Given the description of an element on the screen output the (x, y) to click on. 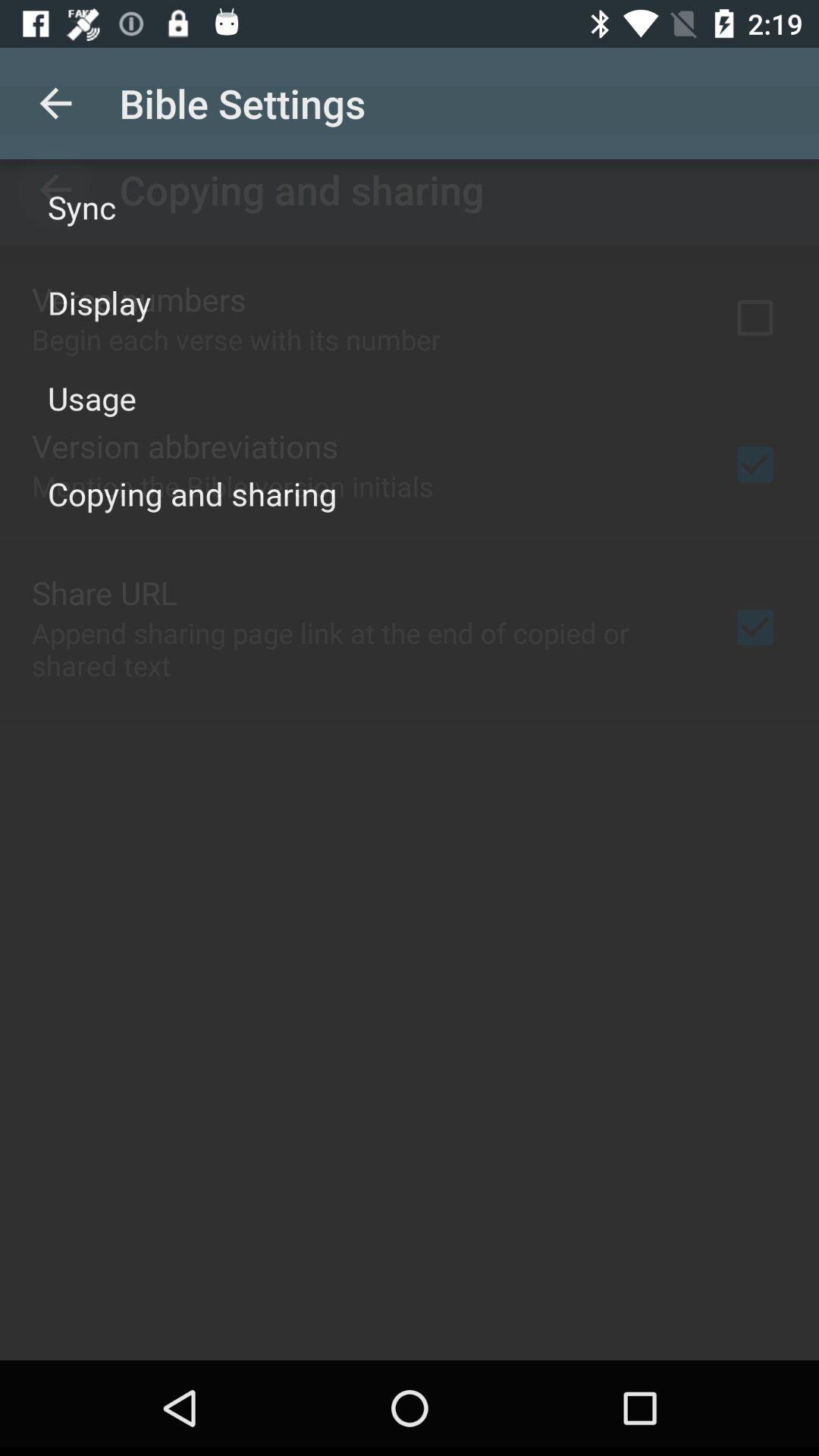
choose icon above the sync (55, 103)
